Given the description of an element on the screen output the (x, y) to click on. 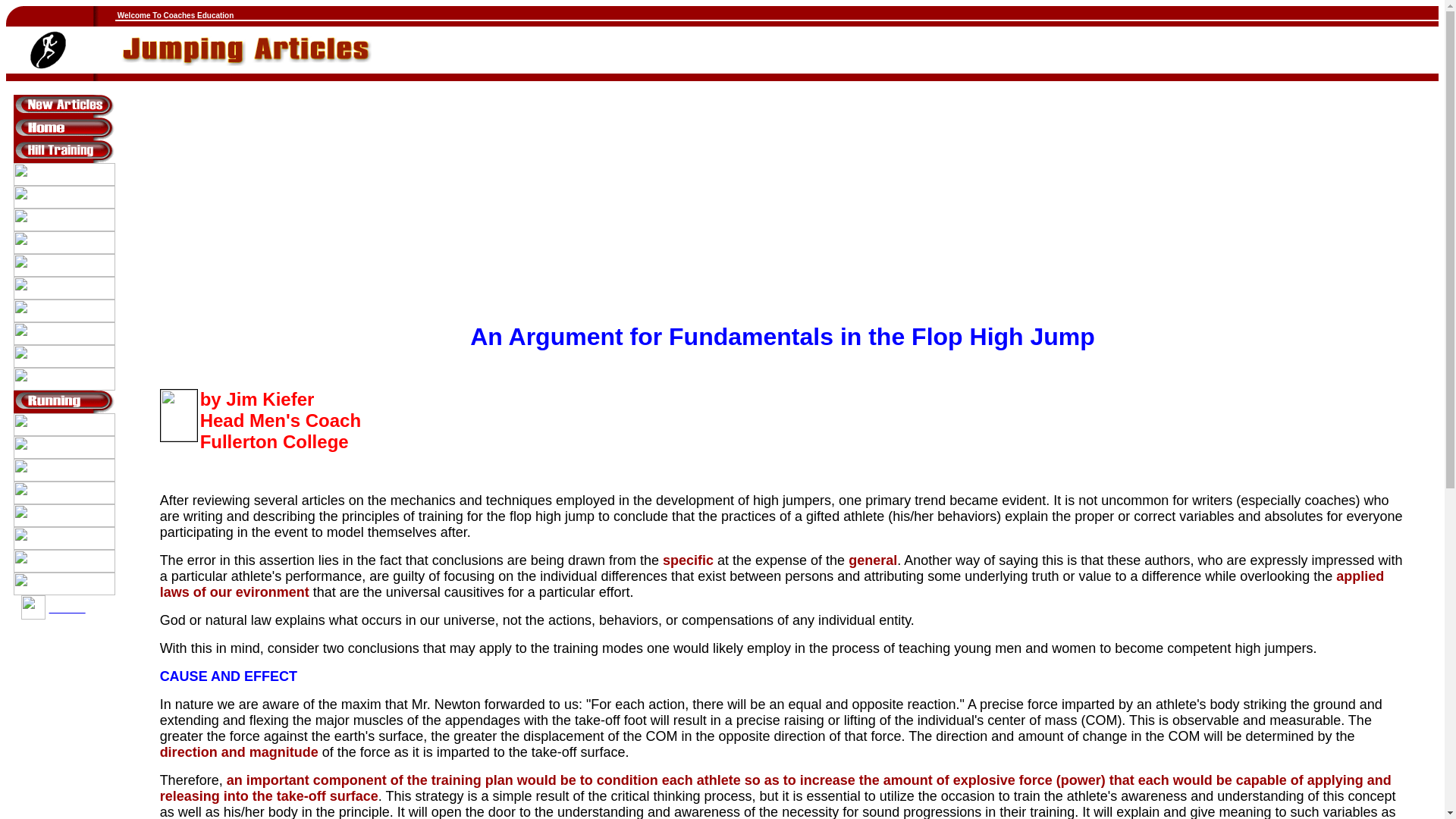
Email (67, 606)
